Given the description of an element on the screen output the (x, y) to click on. 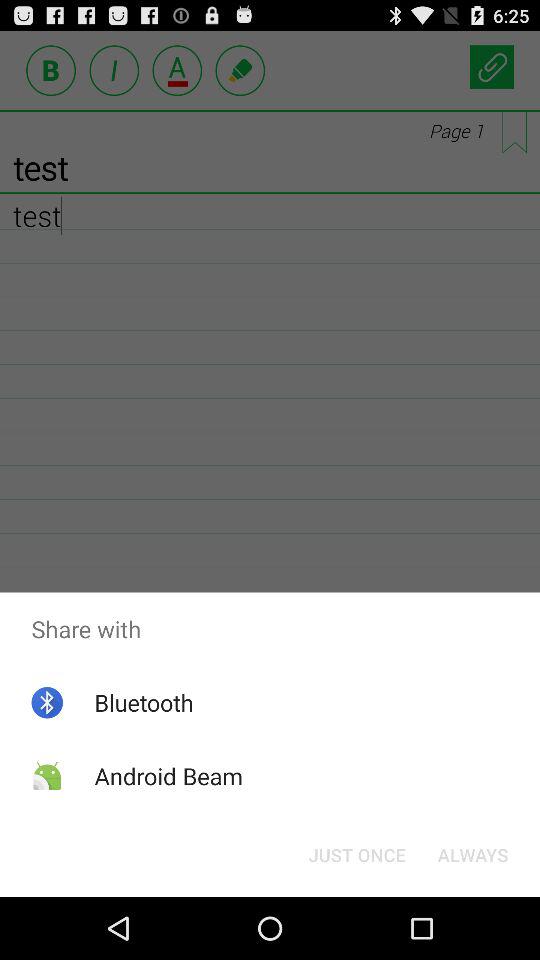
launch the button at the bottom (356, 854)
